Given the description of an element on the screen output the (x, y) to click on. 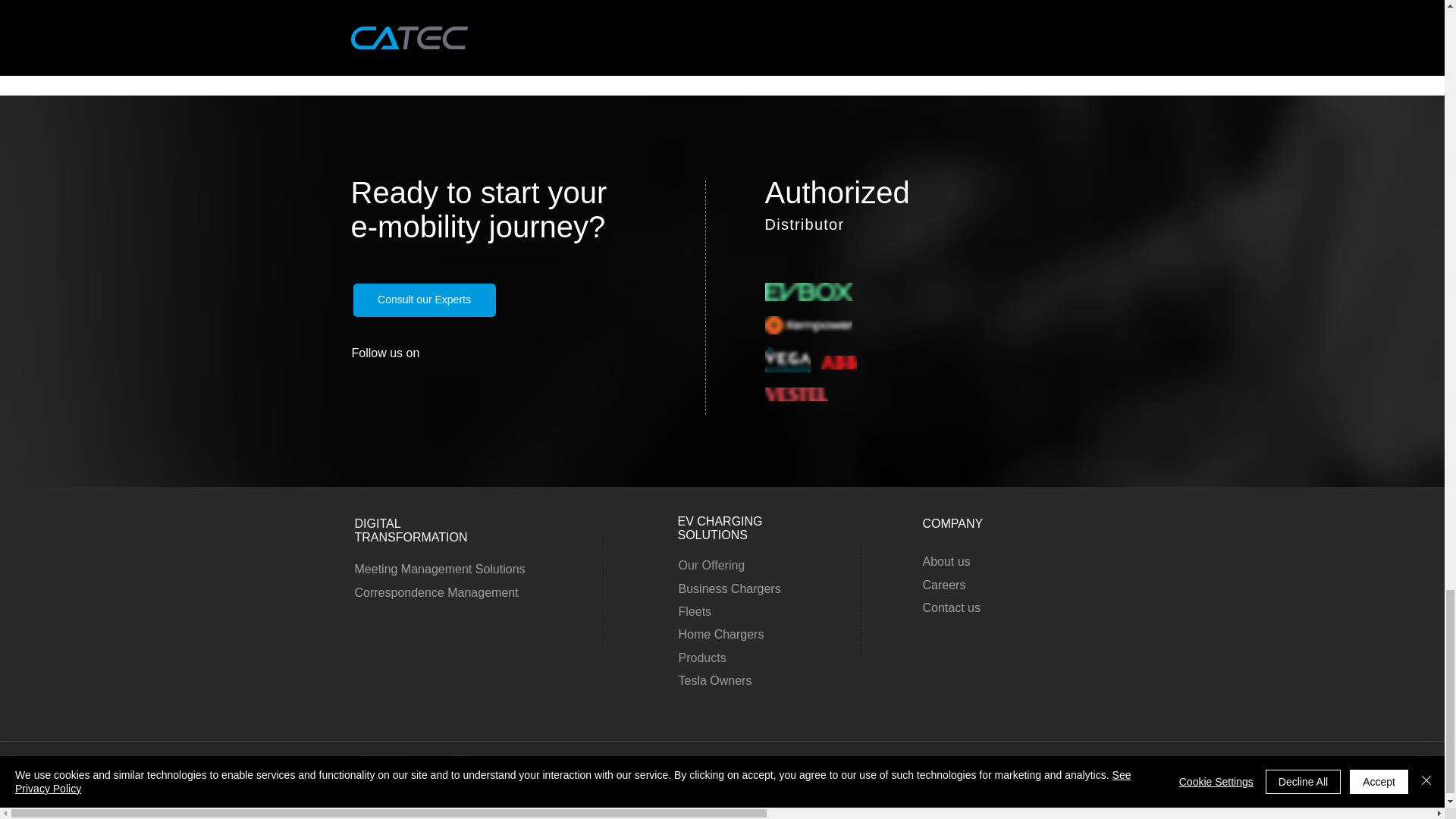
Business Chargers (729, 588)
Products (701, 657)
Careers (943, 584)
DIGITAL TRANSFORMATION (411, 529)
Correspondence Management  (438, 592)
Contact us (950, 607)
EV CHARGING SOLUTIONS (720, 528)
About us (945, 561)
Home Chargers (720, 634)
Fleets (694, 611)
